Given the description of an element on the screen output the (x, y) to click on. 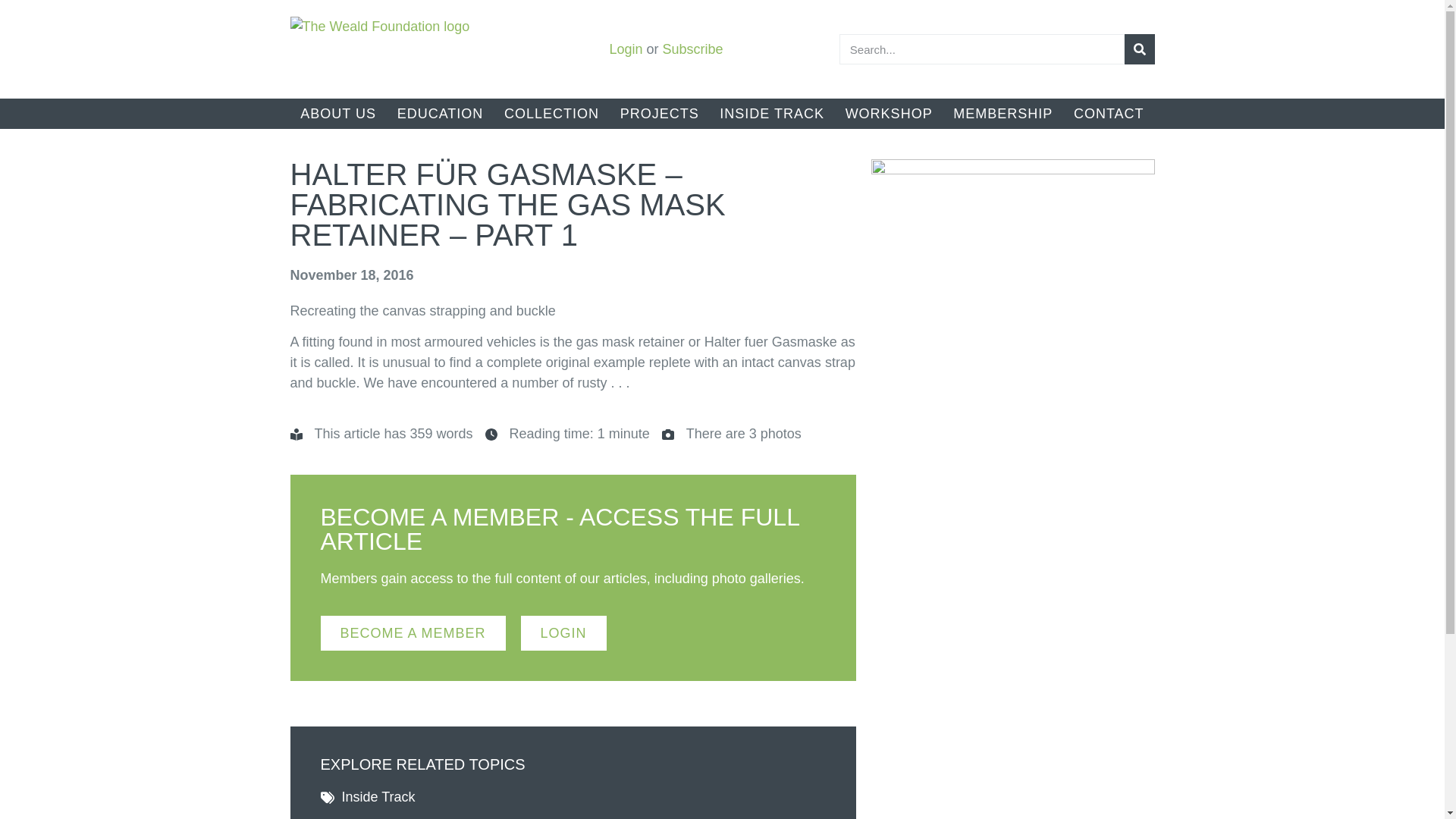
Login (625, 48)
MEMBERSHIP (1002, 113)
WORKSHOP (888, 113)
EDUCATION (440, 113)
CONTACT (1108, 113)
ABOUT US (337, 113)
INSIDE TRACK (771, 113)
Subscribe (692, 48)
COLLECTION (551, 113)
PROJECTS (660, 113)
